Given the description of an element on the screen output the (x, y) to click on. 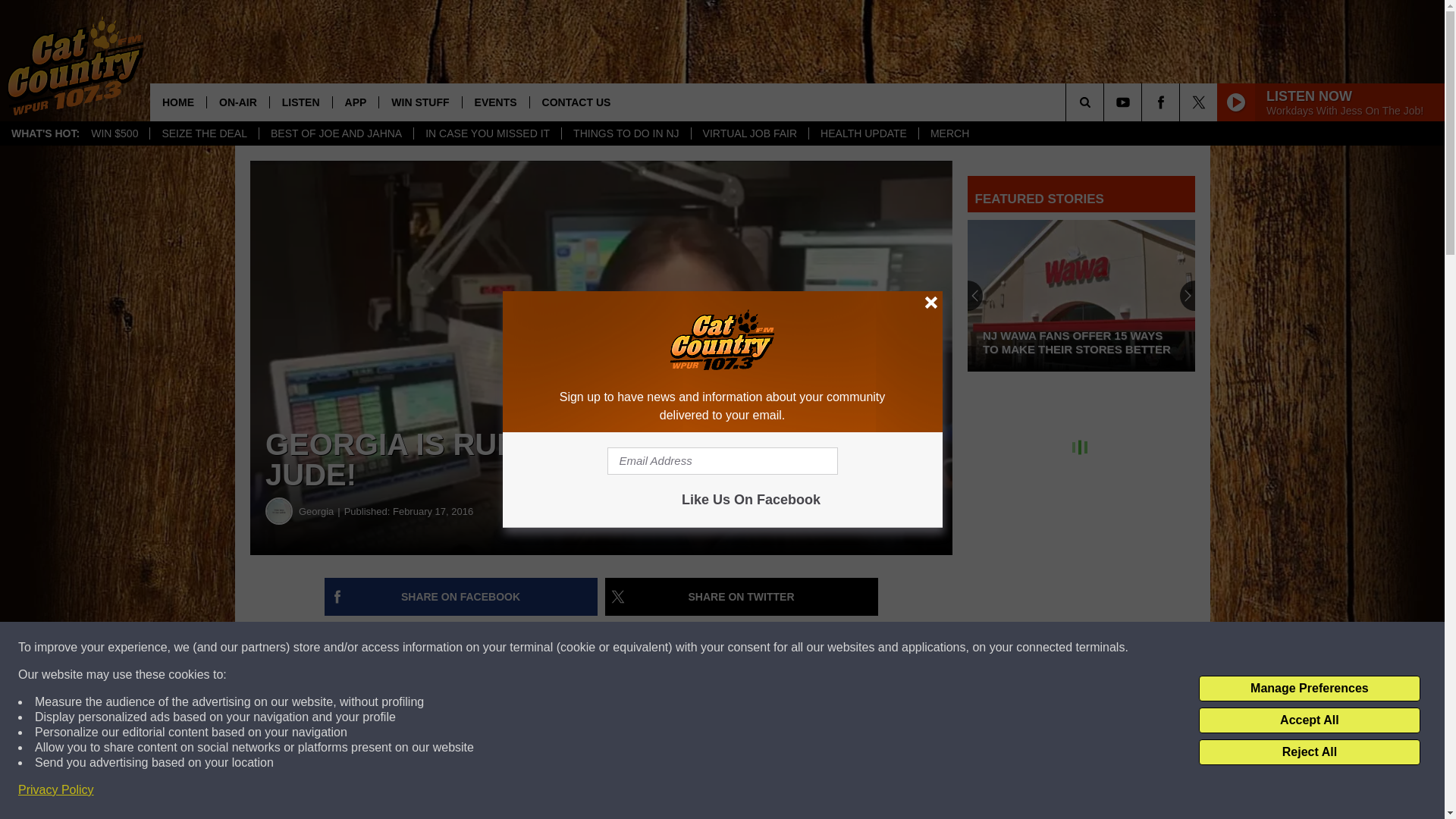
ON-AIR (237, 102)
APP (354, 102)
LISTEN (300, 102)
Accept All (1309, 720)
Privacy Policy (55, 789)
SEARCH (1106, 102)
VIRTUAL JOB FAIR (749, 133)
HOME (177, 102)
SEARCH (1106, 102)
MERCH (948, 133)
BEST OF JOE AND JAHNA (336, 133)
Reject All (1309, 751)
WIN STUFF (419, 102)
Email Address (722, 461)
THINGS TO DO IN NJ (625, 133)
